Given the description of an element on the screen output the (x, y) to click on. 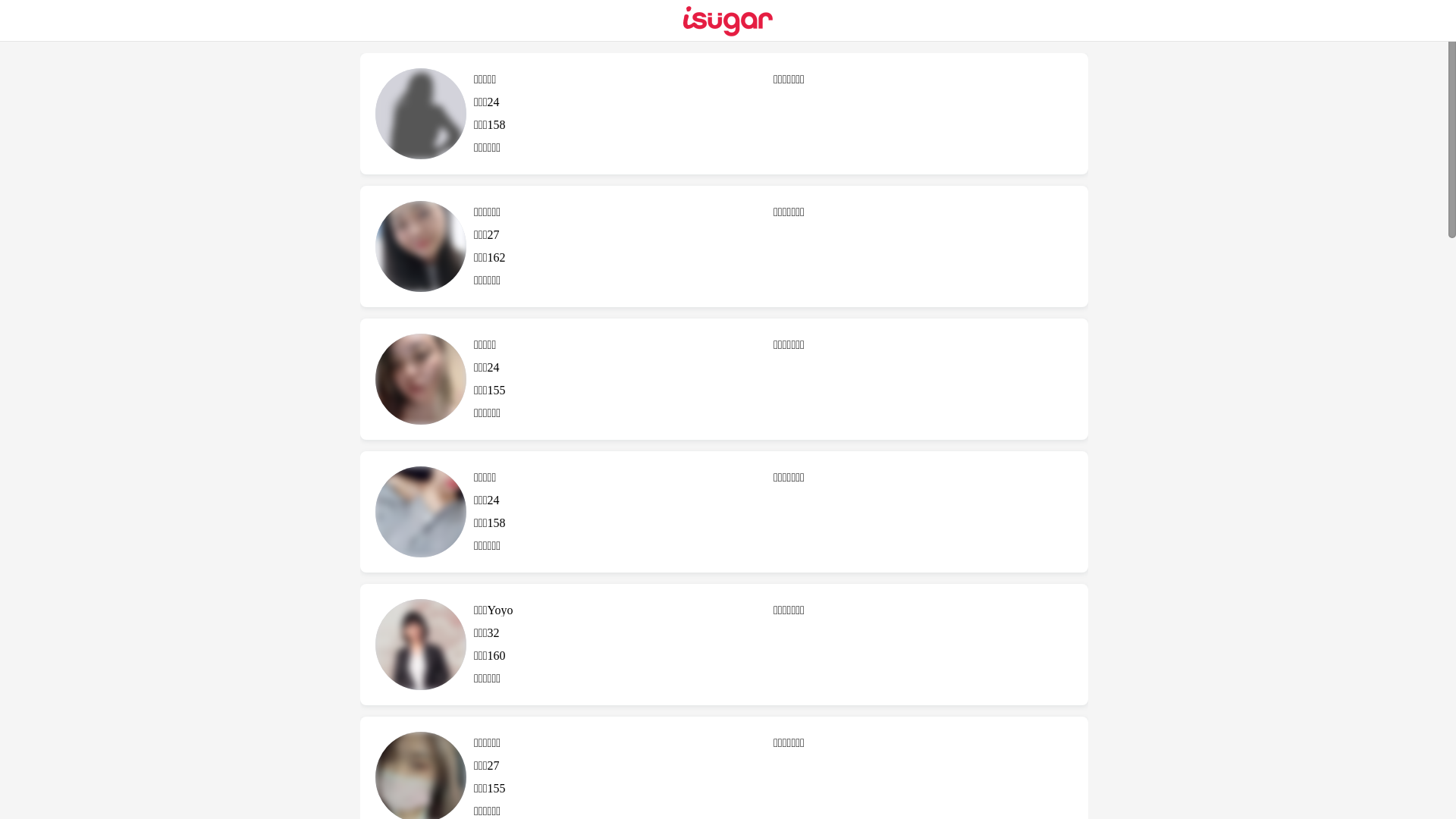
Yoyo Element type: hover (420, 644)
